Given the description of an element on the screen output the (x, y) to click on. 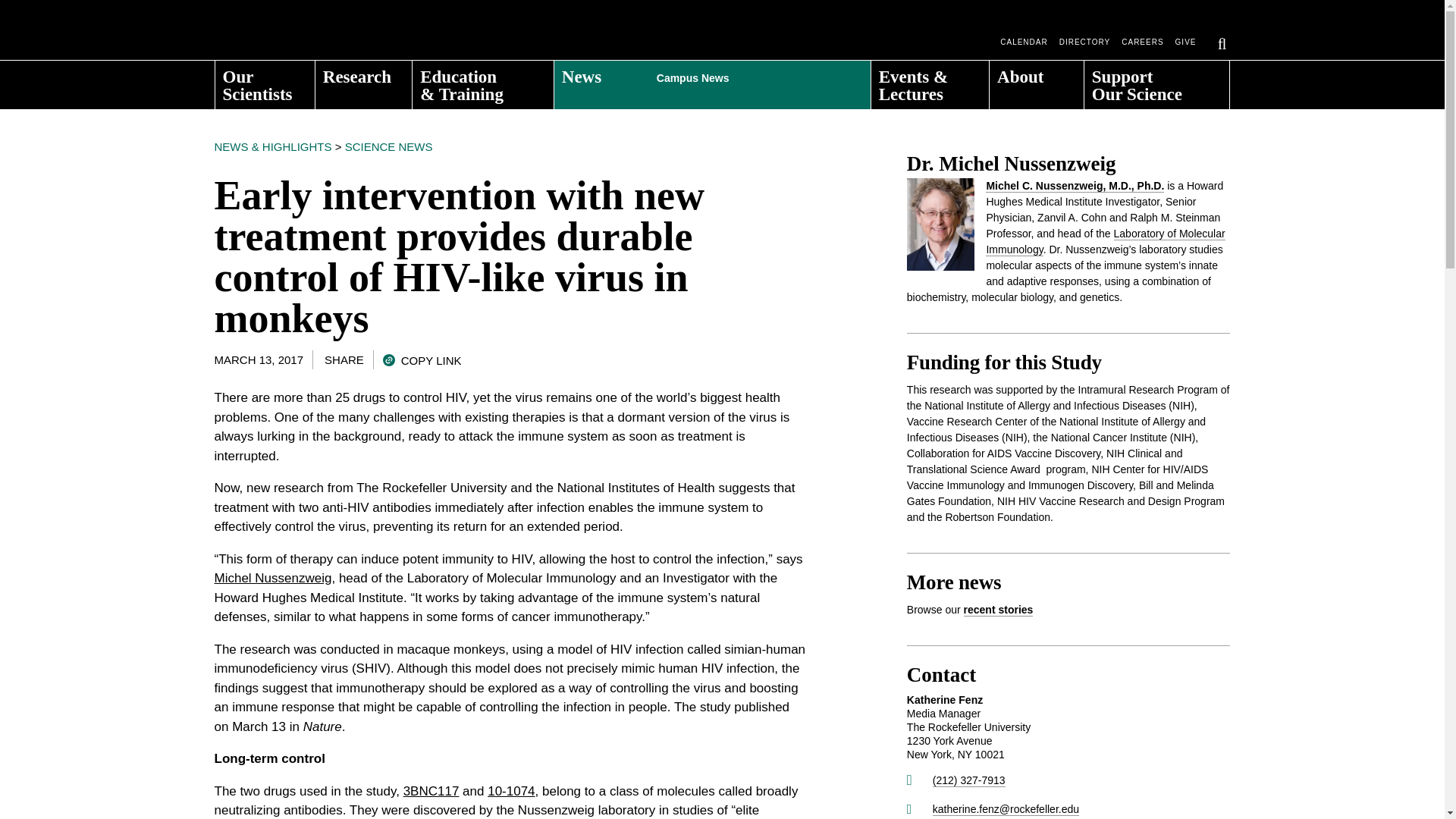
Campus News (740, 74)
Research (363, 80)
News (712, 80)
Our Scientists (264, 80)
